Given the description of an element on the screen output the (x, y) to click on. 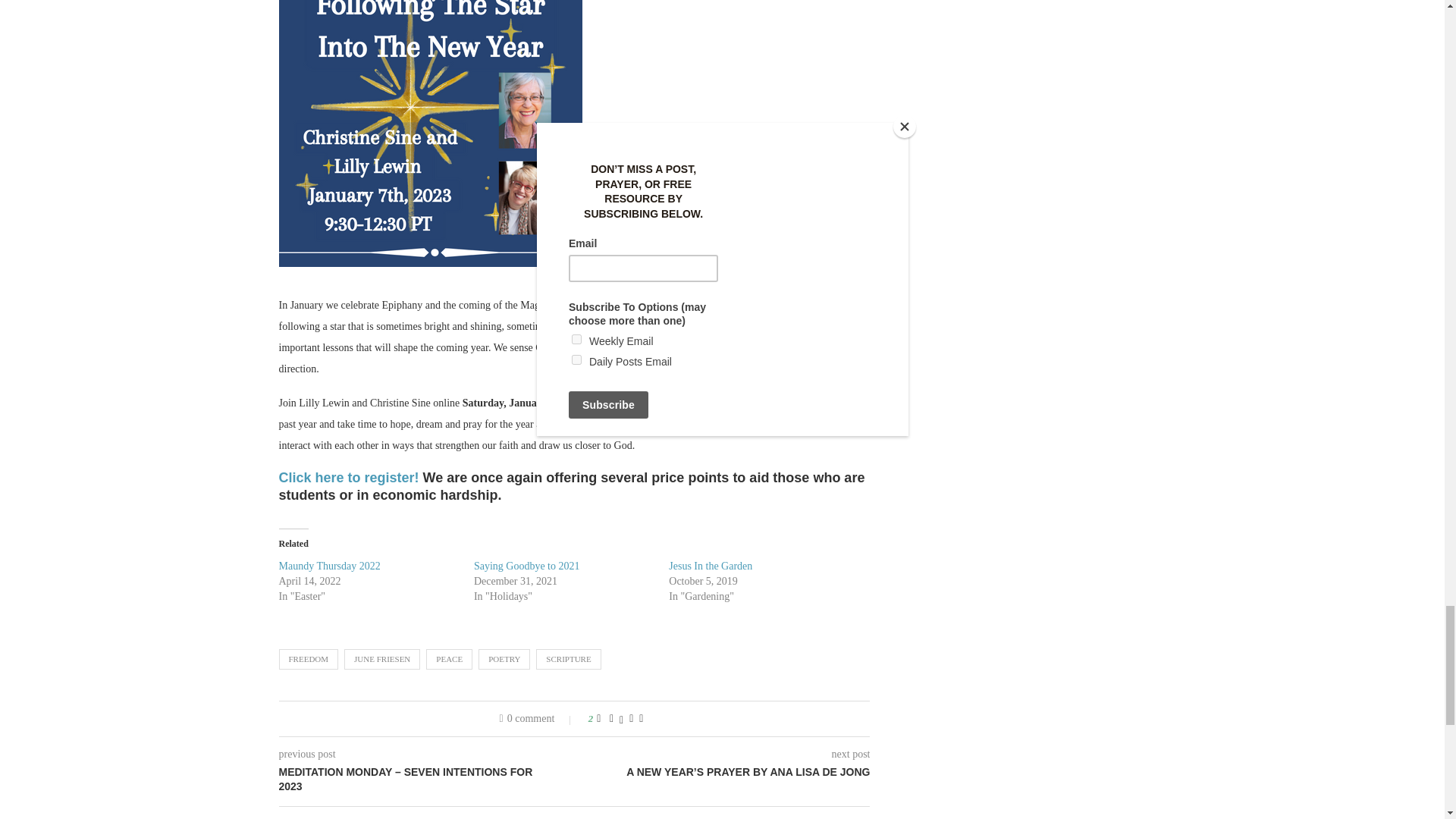
Jesus In the Garden (710, 565)
Maundy Thursday 2022 (329, 565)
Saying Goodbye to 2021 (526, 565)
Following The Star Into The New Year (430, 133)
